Given the description of an element on the screen output the (x, y) to click on. 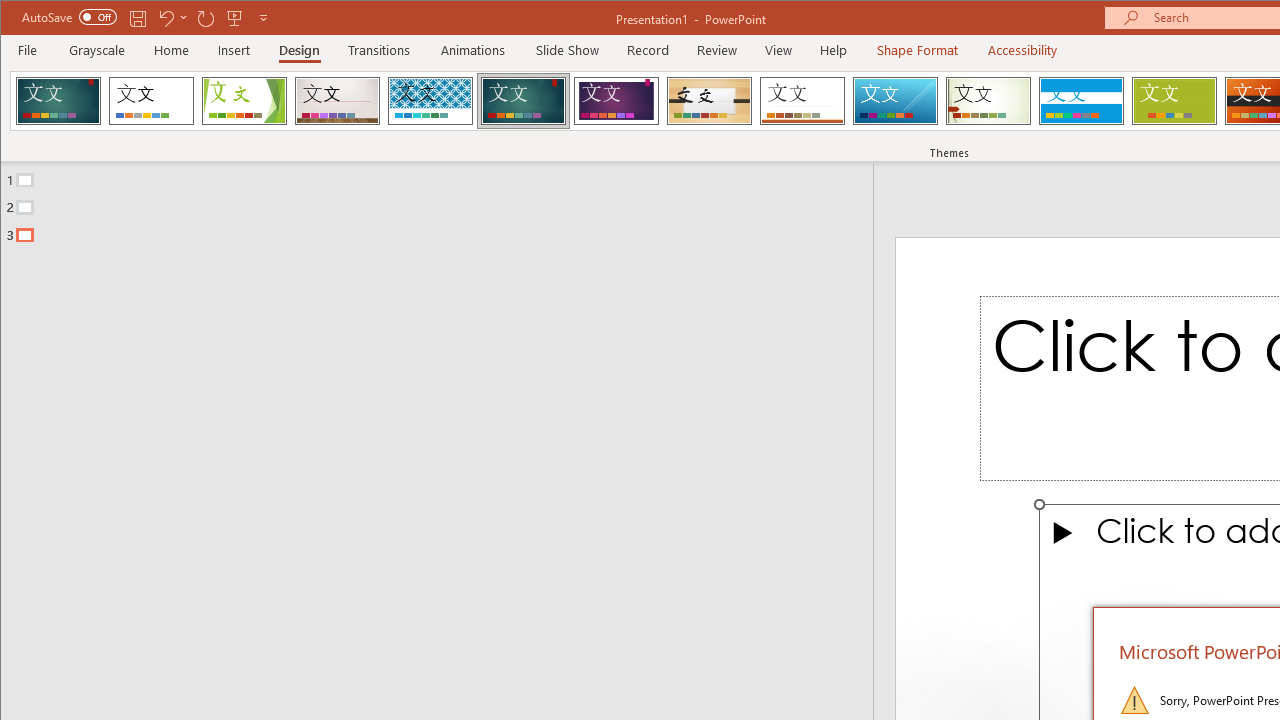
Facet (244, 100)
Dividend (57, 100)
Basis (1174, 100)
